Given the description of an element on the screen output the (x, y) to click on. 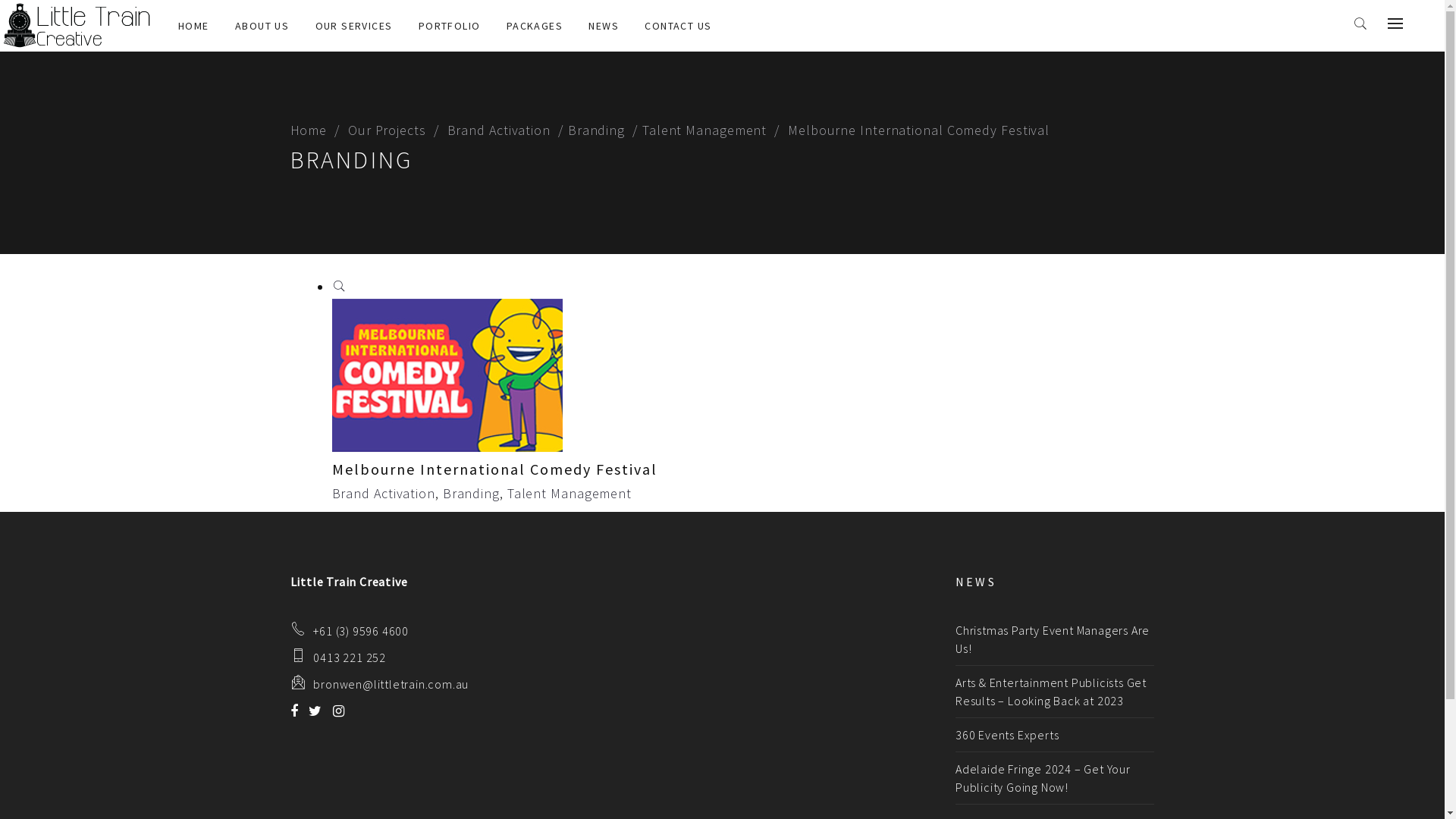
HOME Element type: text (193, 25)
Melbourne International Comedy Festival Element type: text (494, 398)
PORTFOLIO Element type: text (449, 25)
0413 221 252 Element type: text (349, 657)
Brand Activation Element type: text (505, 129)
bronwen@littletrain.com.au Element type: text (390, 683)
+61 (3) 9596 4600 Element type: text (359, 630)
CONTACT US Element type: text (677, 25)
Our Projects Element type: text (393, 129)
Brand Activation Element type: text (383, 493)
Branding Element type: text (470, 493)
Talent Management Element type: text (569, 493)
Christmas Party Event Managers Are Us! Element type: text (1052, 638)
OUR SERVICES Element type: text (353, 25)
ABOUT US Element type: text (261, 25)
Talent Management Element type: text (710, 129)
360 Events Experts Element type: text (1006, 734)
NEWS Element type: text (603, 25)
PACKAGES Element type: text (534, 25)
Branding Element type: text (602, 129)
Home Element type: text (314, 129)
